Given the description of an element on the screen output the (x, y) to click on. 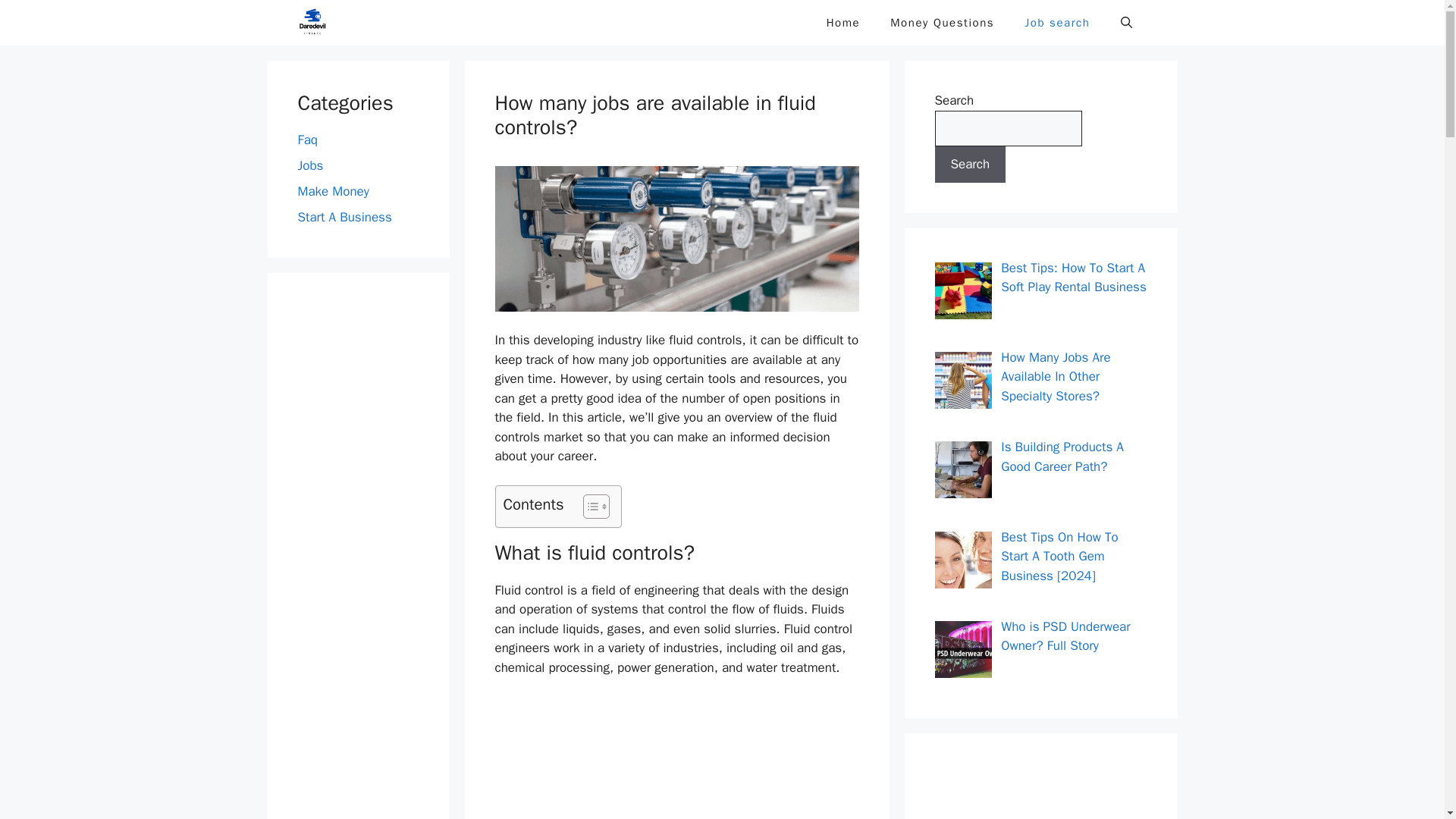
Advertisement (677, 757)
Faq (307, 139)
Make Money (332, 191)
Money Questions (942, 22)
Jobs (310, 165)
Search (970, 164)
Start A Business (344, 217)
Home (843, 22)
Best Tips: How To Start A Soft Play Rental Business (1073, 276)
How Many Jobs Are Available In Other Specialty Stores? (1055, 376)
